Given the description of an element on the screen output the (x, y) to click on. 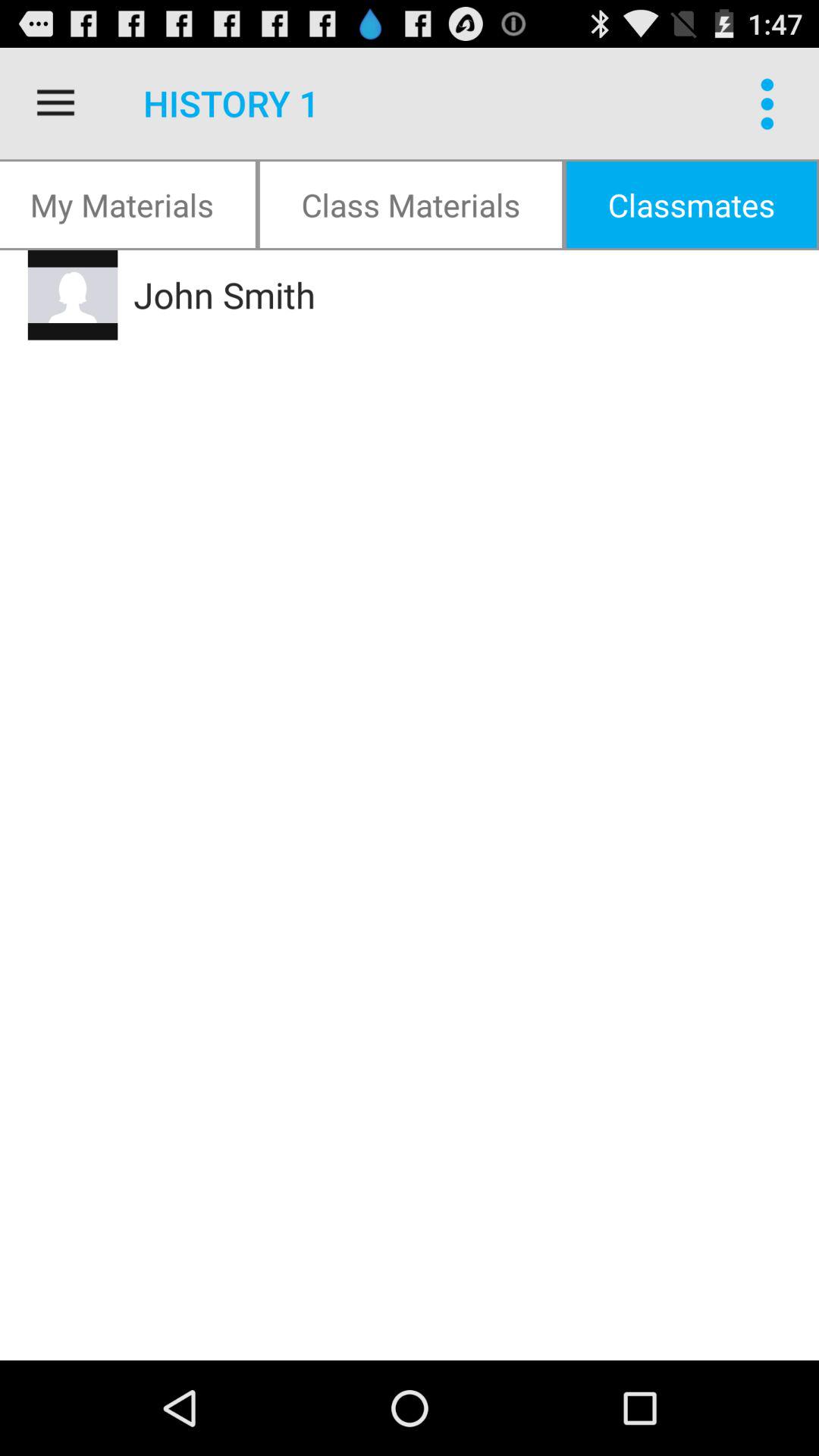
click icon to the left of the history 1 item (55, 103)
